Given the description of an element on the screen output the (x, y) to click on. 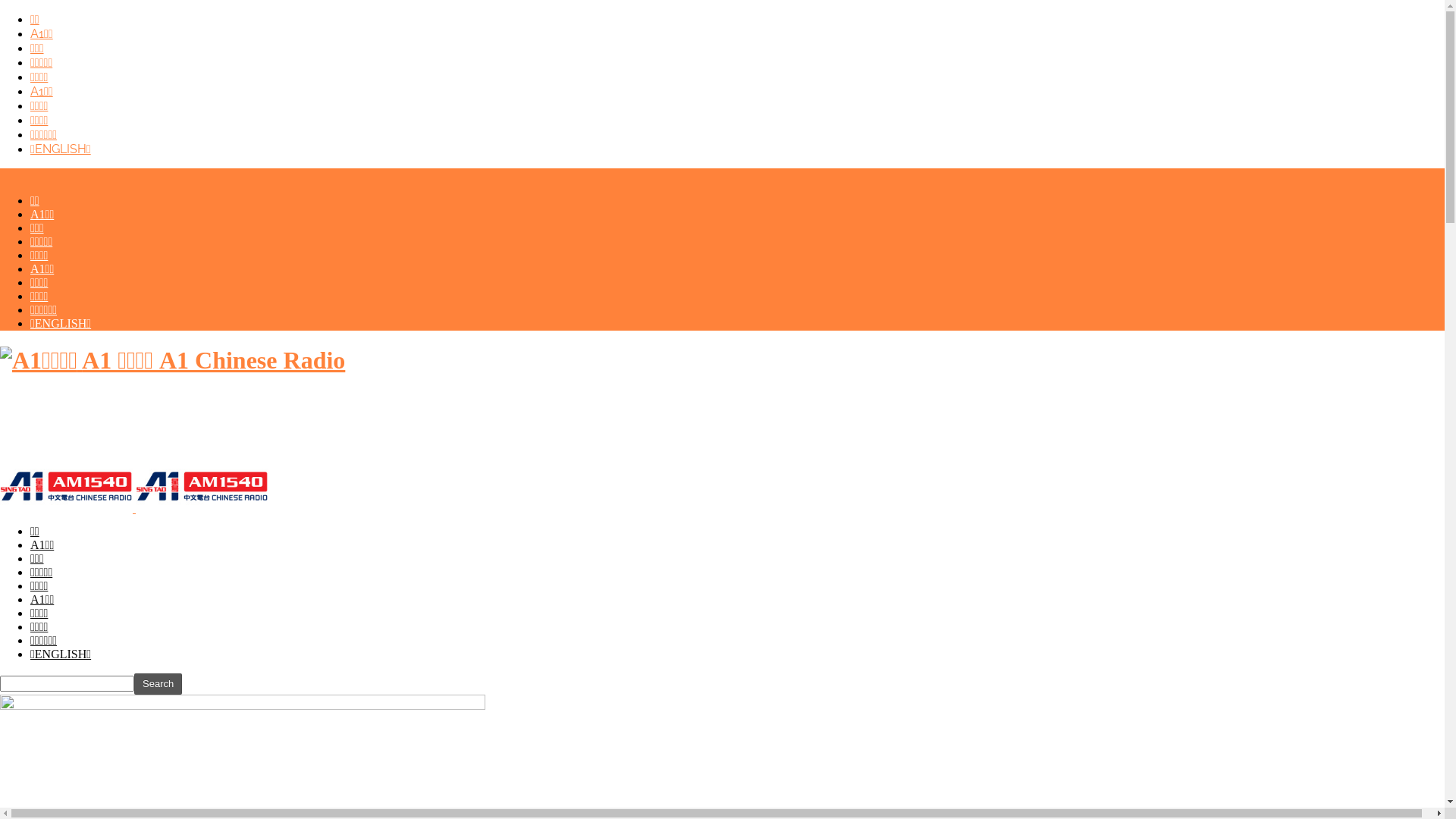
Search Element type: text (158, 683)
